Given the description of an element on the screen output the (x, y) to click on. 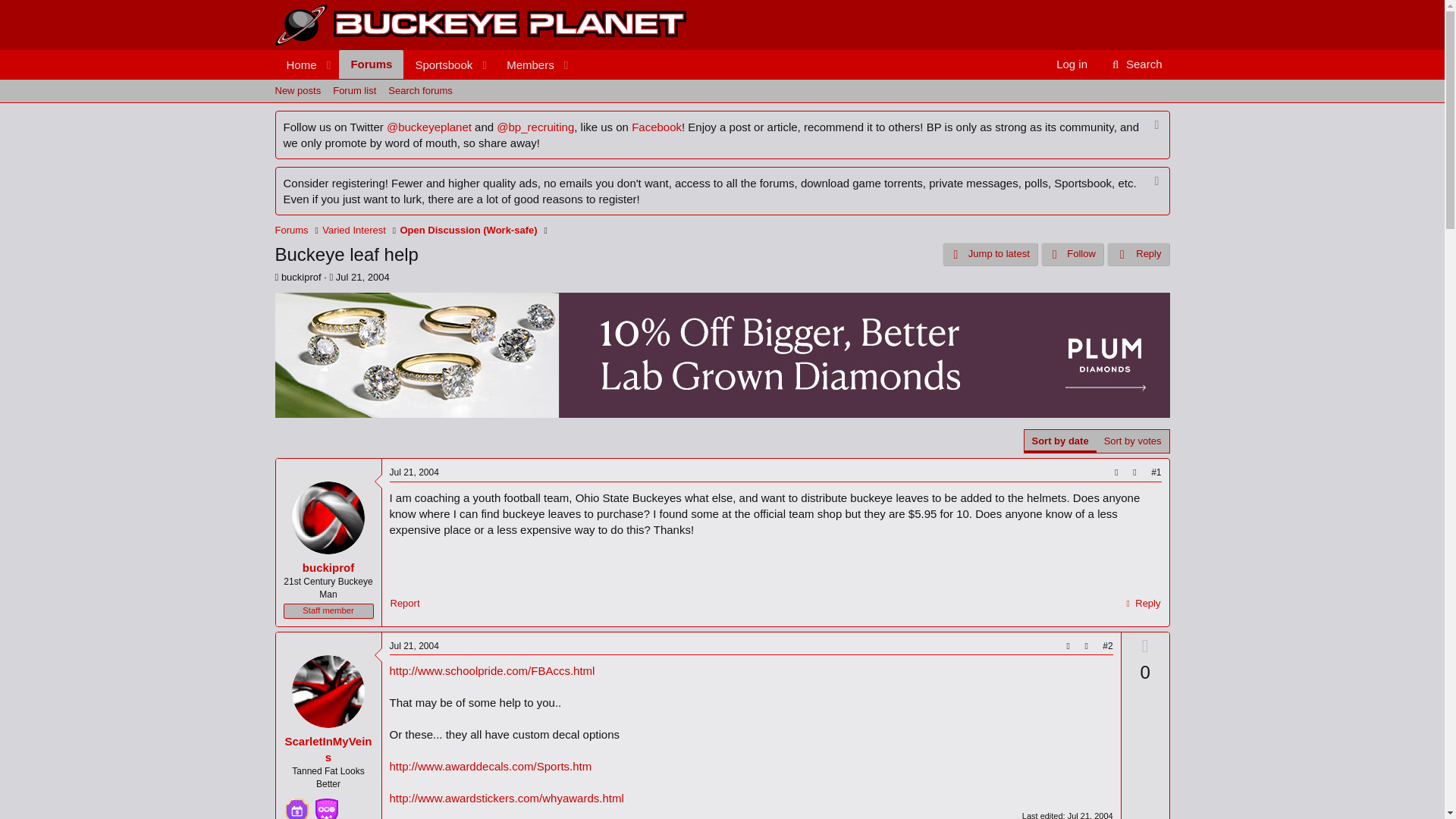
Home (296, 64)
Reply, quoting this message (1141, 603)
Bookmark (424, 81)
Jul 21, 2004 at 10:21 AM (1134, 472)
Members (414, 645)
Forums (524, 64)
Jul 21, 2004 at 10:52 AM (371, 63)
Search (1090, 815)
Jul 21, 2004 at 9:26 AM (1135, 63)
Search (363, 276)
Search forums (1135, 63)
Bookmark (419, 90)
Jul 21, 2004 at 9:26 AM (1086, 646)
New posts (414, 471)
